Given the description of an element on the screen output the (x, y) to click on. 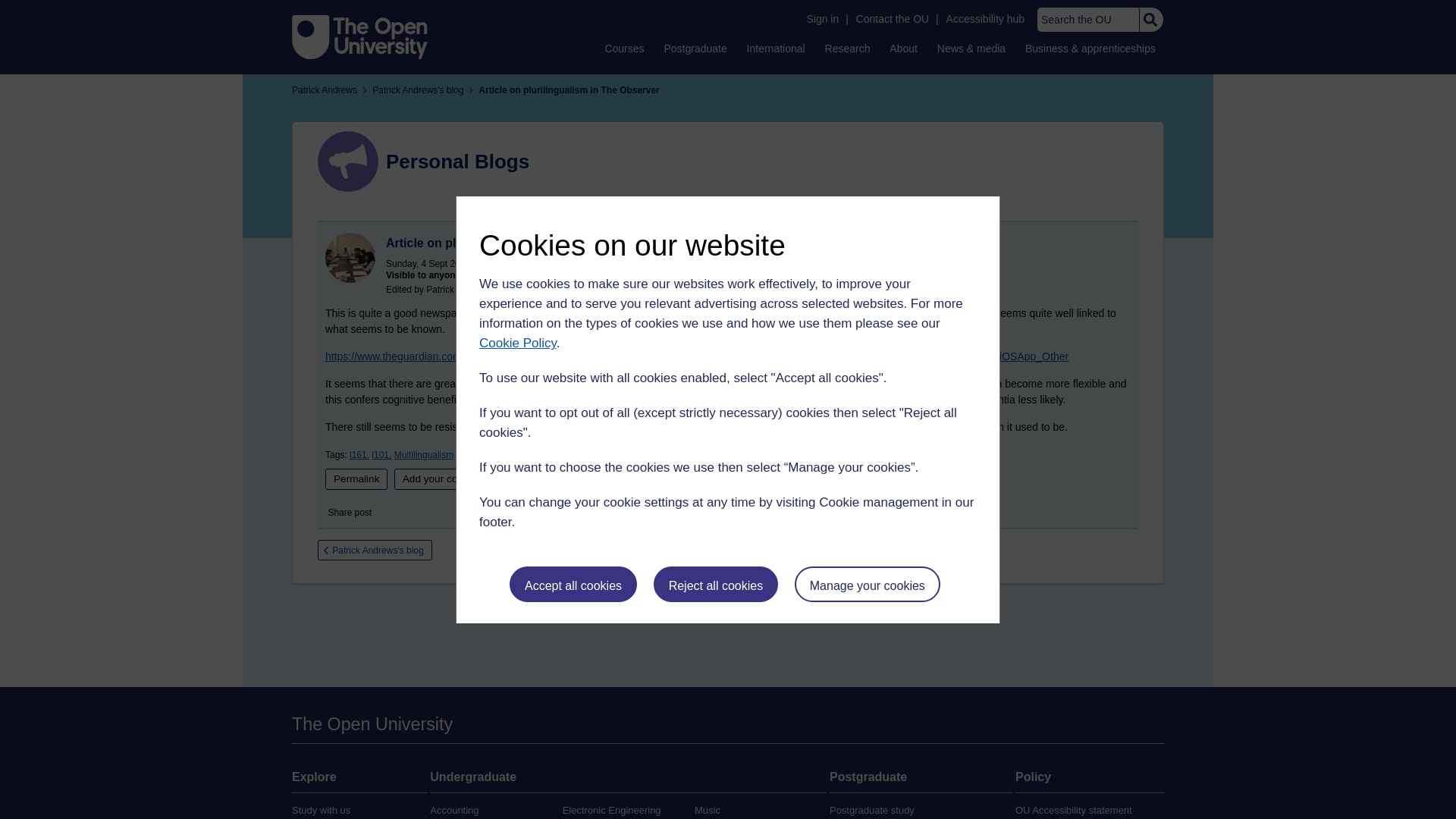
The Open University (360, 36)
Accept all cookies (573, 583)
Search (1149, 19)
Sign in (822, 19)
Patrick Andrews (349, 256)
Postgraduate (695, 48)
Cookie Policy (517, 342)
International (775, 48)
Search (1149, 19)
About (903, 48)
Research (847, 48)
Contact the OU (892, 19)
Courses (623, 48)
Reject all cookies (715, 583)
Manage your cookies (867, 583)
